Given the description of an element on the screen output the (x, y) to click on. 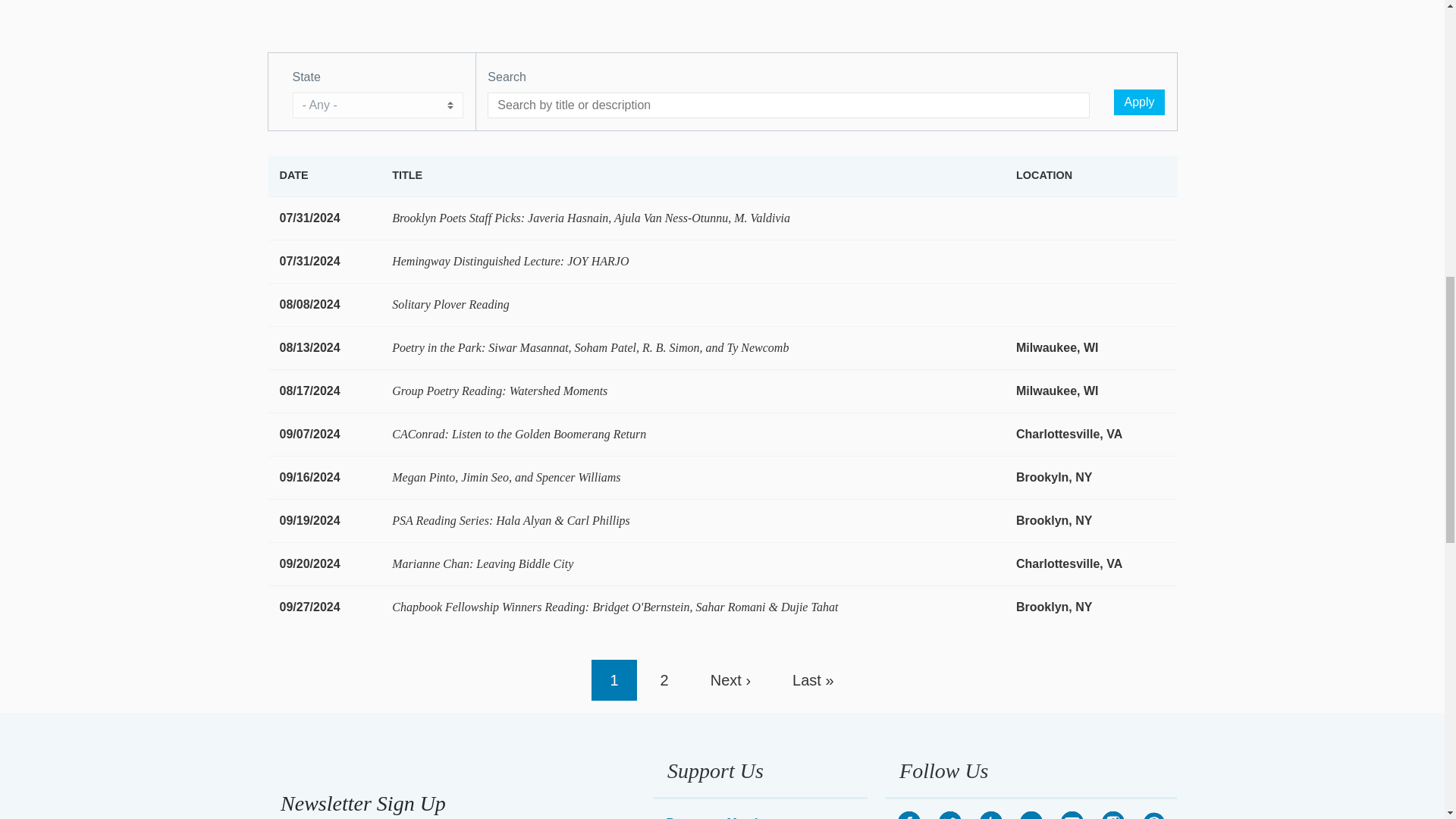
CAConrad: Listen to the Golden Boomerang Return (518, 433)
Apply (1138, 102)
Current page (613, 680)
Go to page 2 (664, 680)
Group Poetry Reading: Watershed Moments (499, 390)
Go to next page (730, 680)
Hemingway Distinguished Lecture: JOY HARJO (509, 260)
Marianne Chan: Leaving Biddle City (482, 563)
Solitary Plover Reading (450, 304)
Go to last page (812, 680)
Apply (1138, 102)
Megan Pinto, Jimin Seo, and Spencer Williams (505, 477)
